Given the description of an element on the screen output the (x, y) to click on. 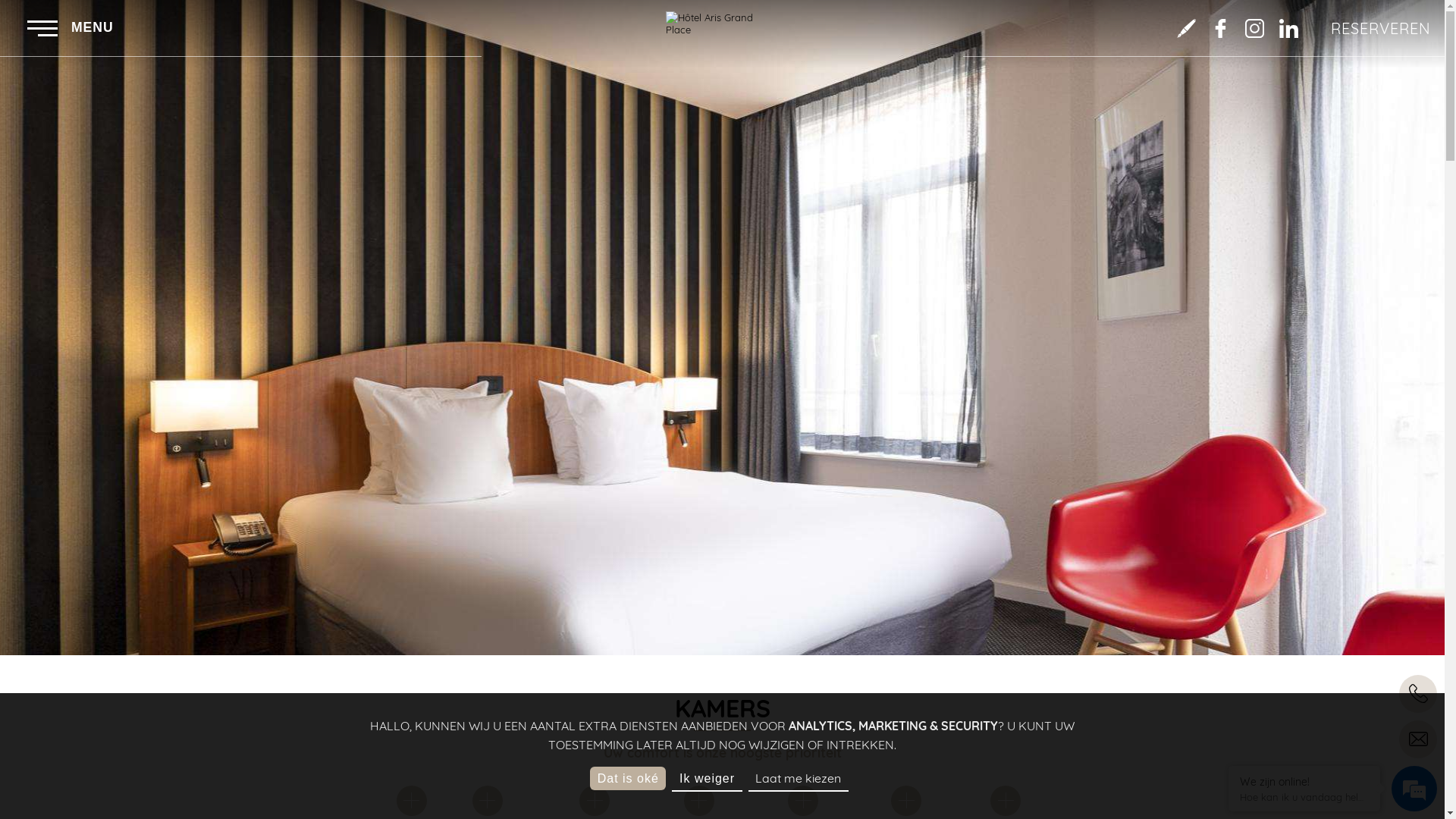
RESERVEREN Element type: text (1380, 28)
Ik weiger Element type: text (706, 778)
MENU Element type: text (70, 27)
Laat me kiezen Element type: text (798, 778)
